Given the description of an element on the screen output the (x, y) to click on. 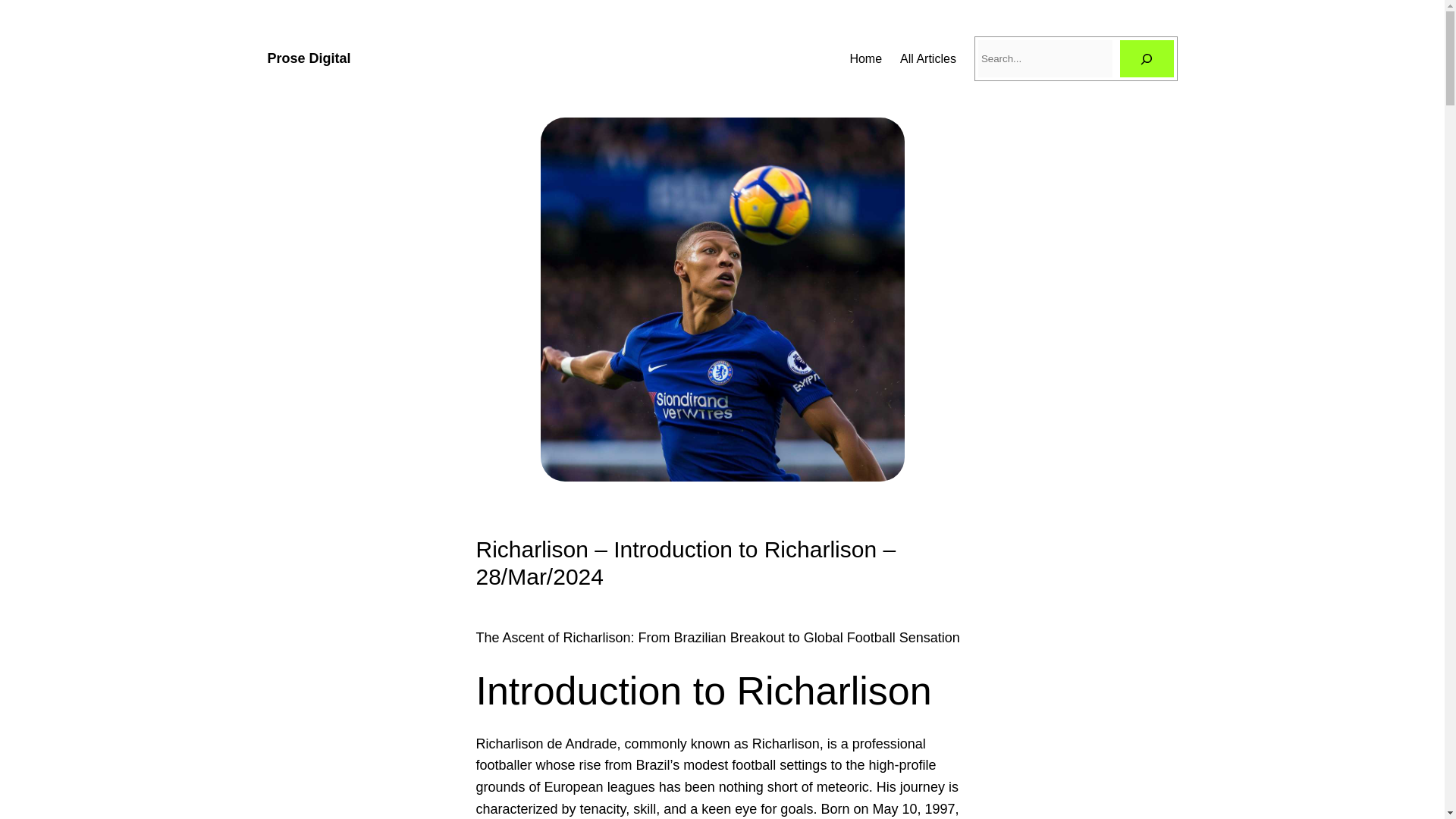
Home (865, 58)
All Articles (927, 58)
Prose Digital (308, 58)
